Given the description of an element on the screen output the (x, y) to click on. 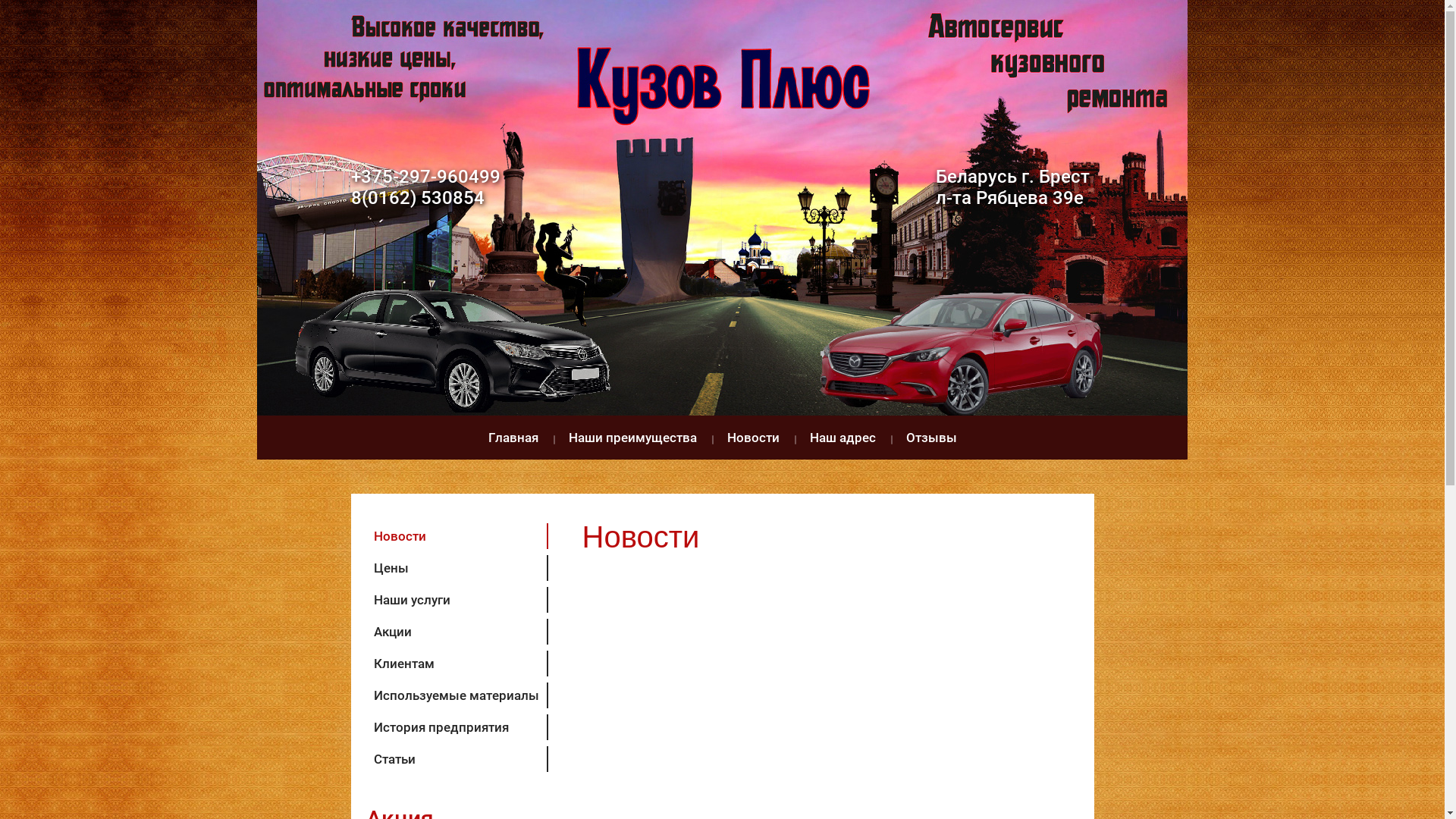
+375-297-960499 Element type: text (424, 176)
8(0162) 530854 Element type: text (416, 197)
